Given the description of an element on the screen output the (x, y) to click on. 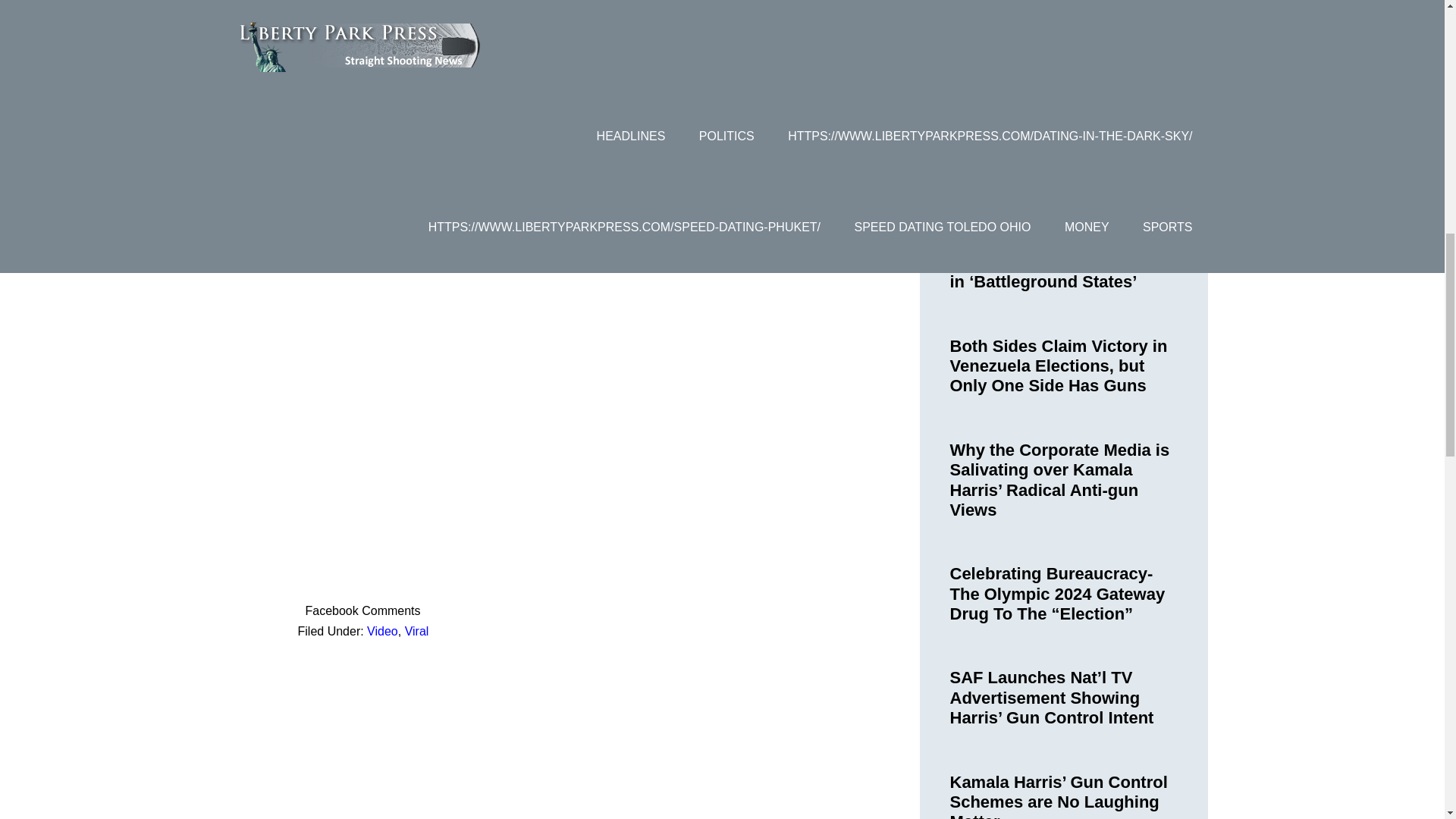
Video (381, 631)
Viral (416, 631)
